Given the description of an element on the screen output the (x, y) to click on. 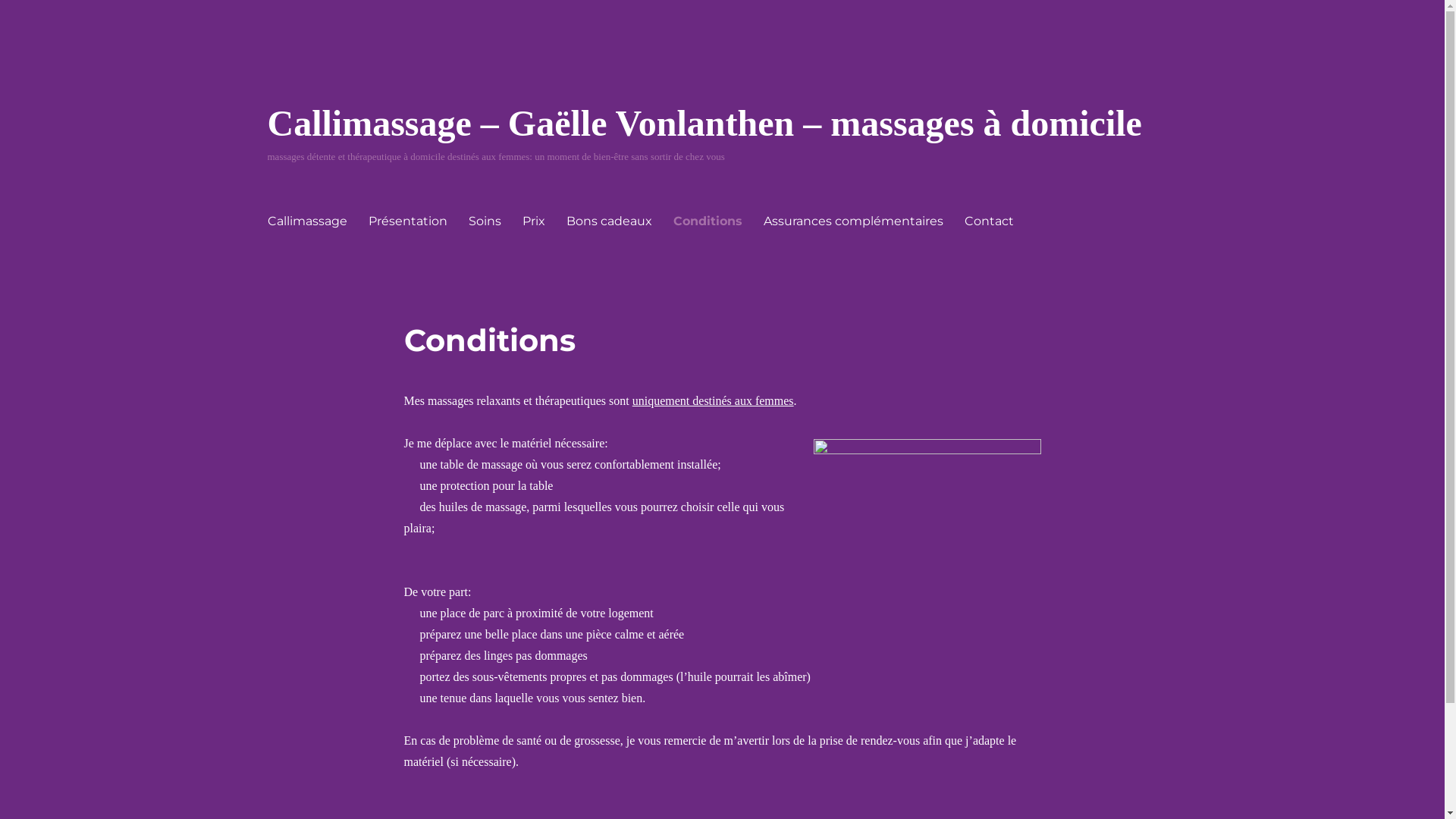
Bons cadeaux Element type: text (608, 220)
Conditions Element type: text (707, 220)
Soins Element type: text (484, 220)
Contact Element type: text (988, 220)
Prix Element type: text (533, 220)
Callimassage Element type: text (306, 220)
